Given the description of an element on the screen output the (x, y) to click on. 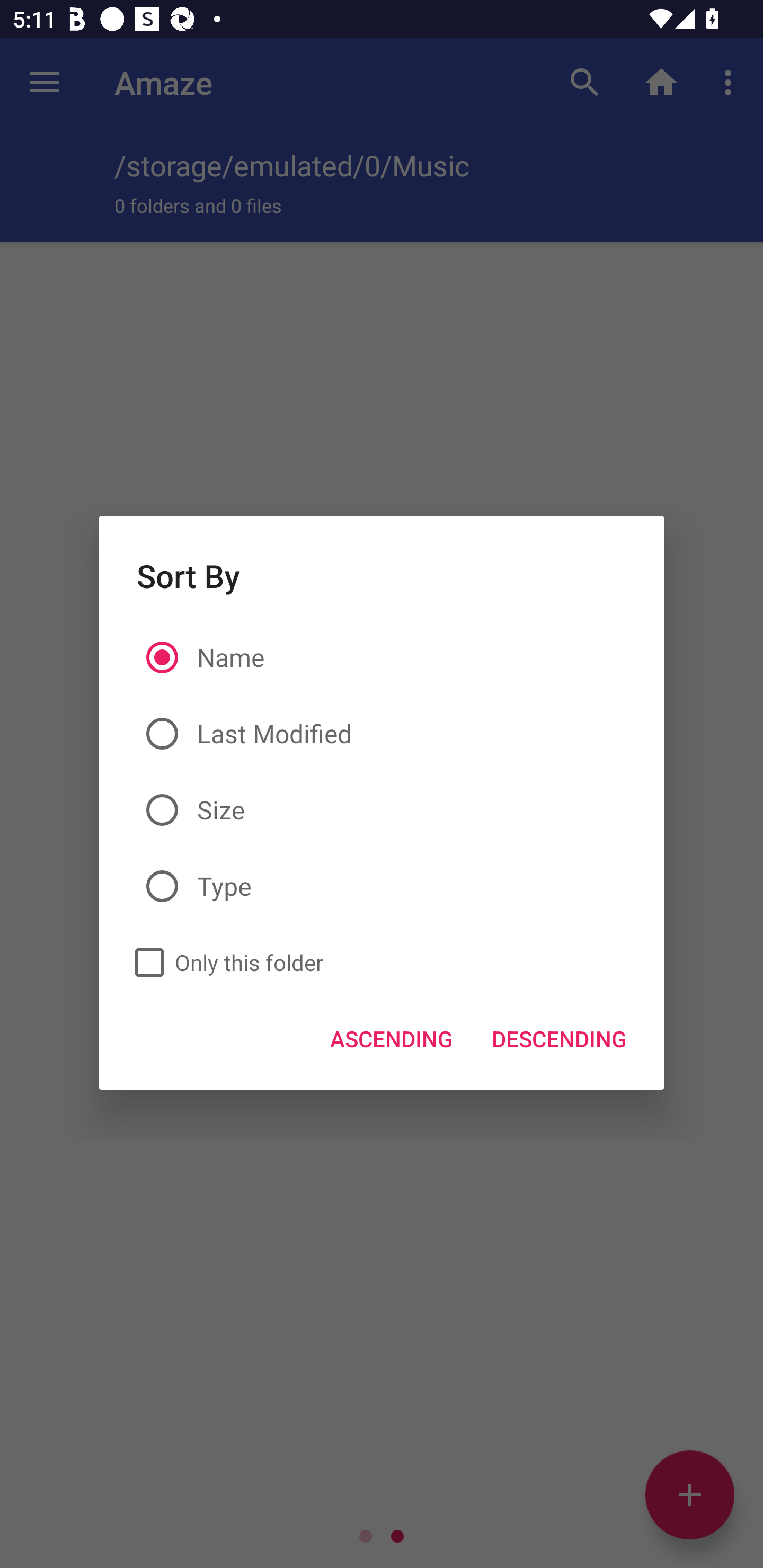
Name (381, 657)
Last Modified (381, 733)
Size (381, 809)
Type (381, 886)
Only this folder (223, 962)
ASCENDING (391, 1038)
DESCENDING (558, 1038)
